Given the description of an element on the screen output the (x, y) to click on. 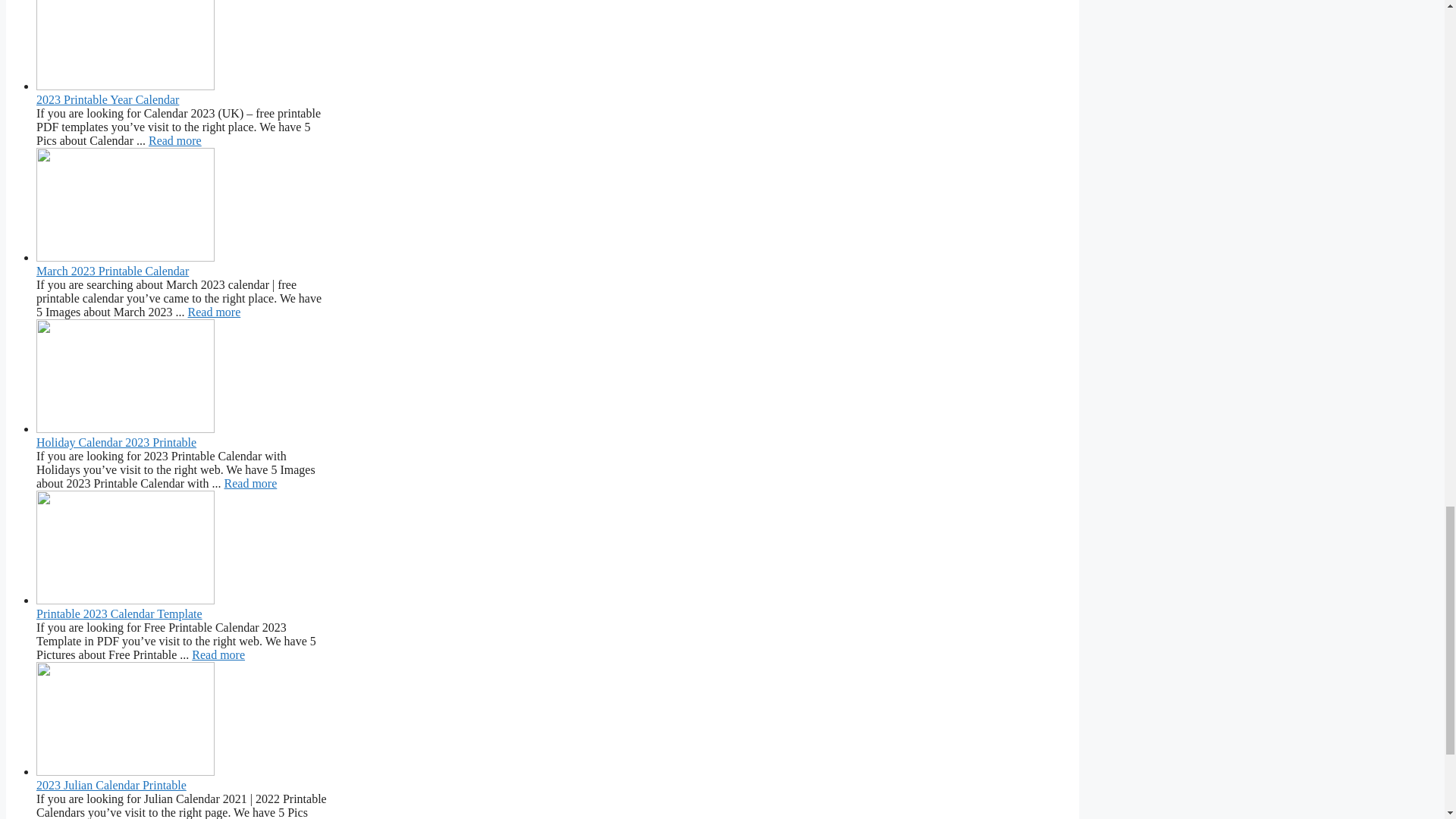
2023 Printable Year Calendar (175, 140)
March 2023 Printable Calendar (214, 311)
Holiday Calendar 2023 Printable (251, 482)
Printable 2023 Calendar Template (218, 654)
